Given the description of an element on the screen output the (x, y) to click on. 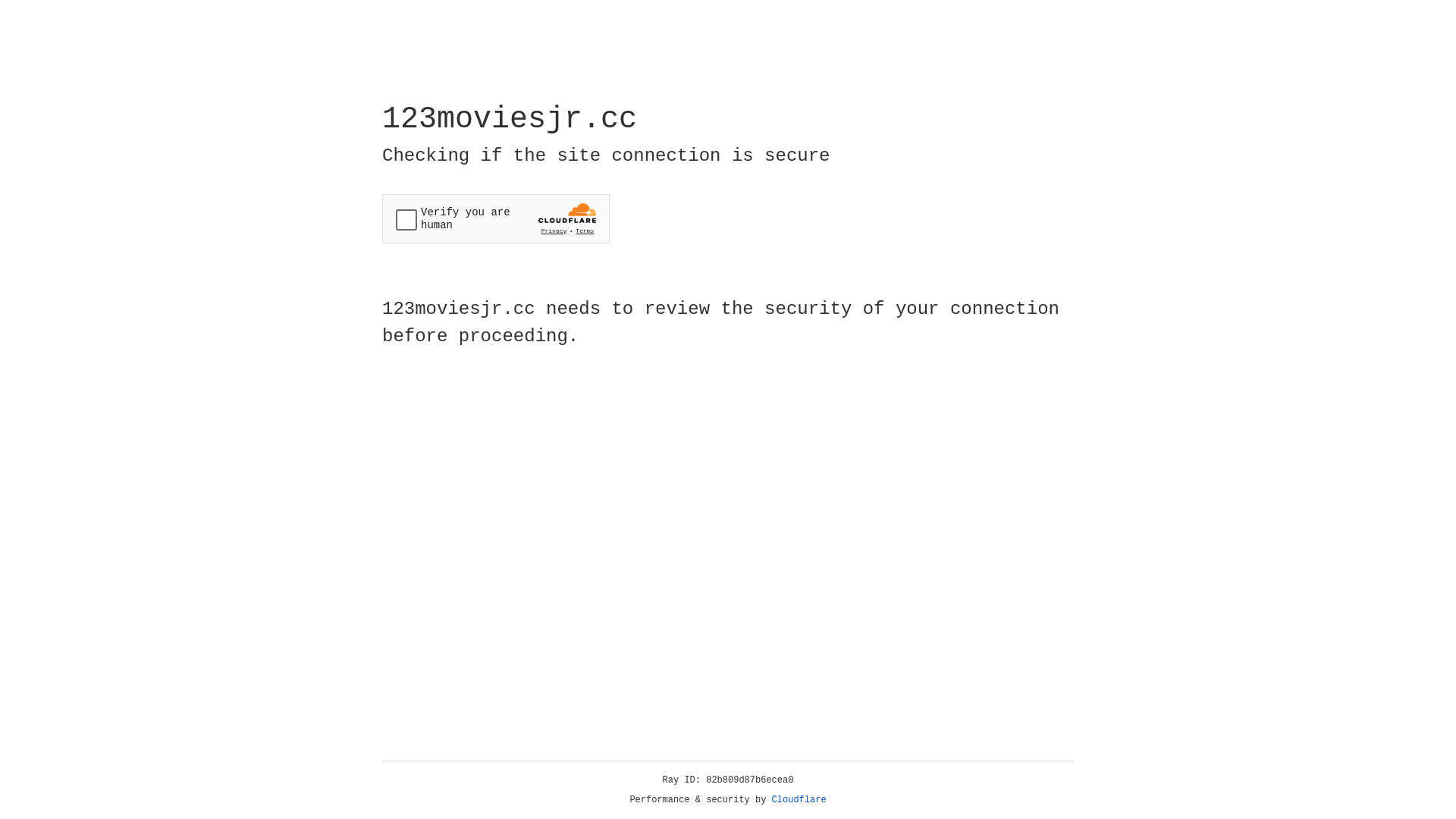
Widget containing a Cloudflare security challenge Element type: hover (495, 218)
Cloudflare Element type: text (798, 799)
